Given the description of an element on the screen output the (x, y) to click on. 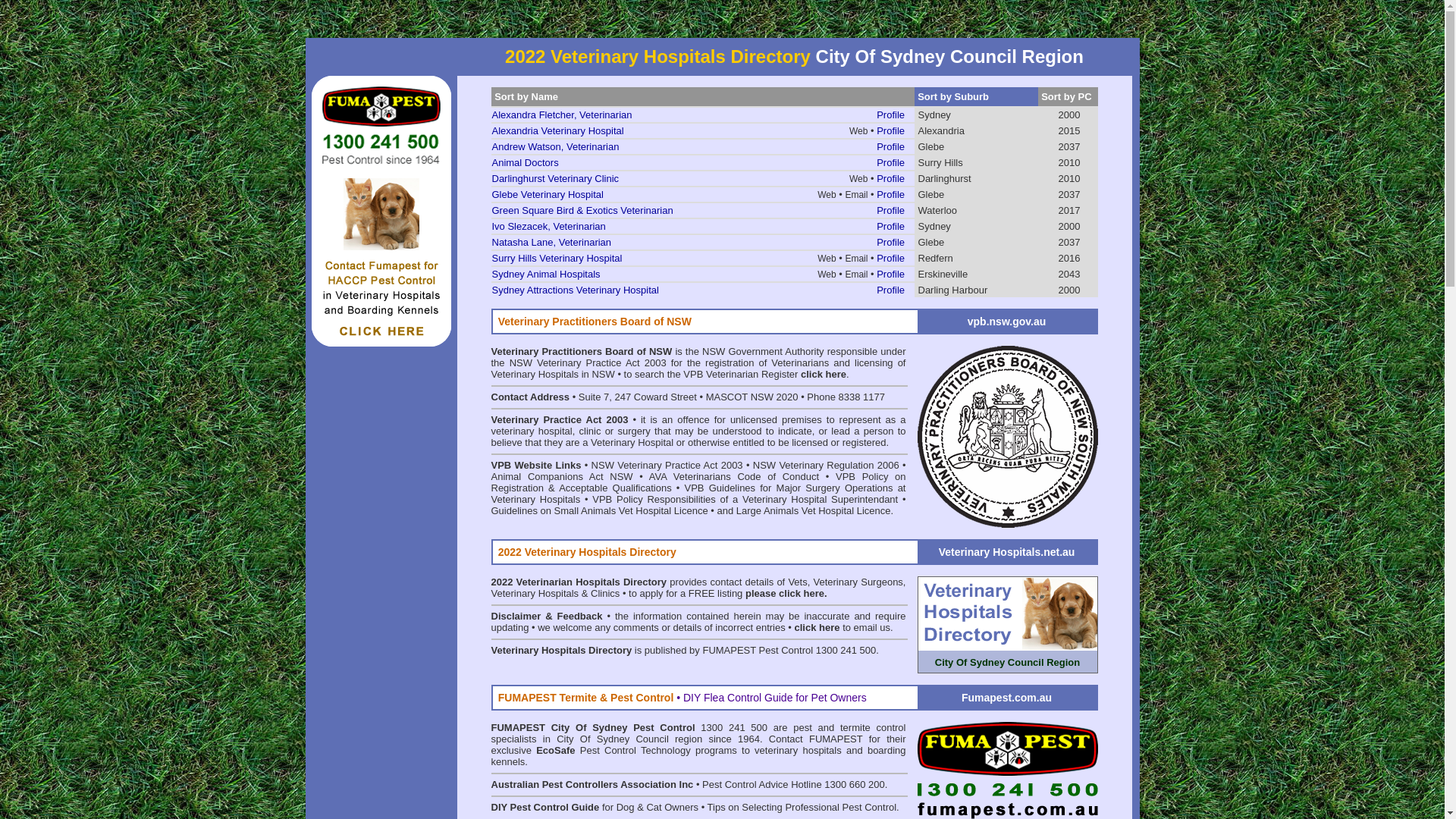
Animal Companions Act Element type: text (547, 476)
Ivo Slezacek, Veterinarian Profile Element type: text (702, 225)
click here to email us Element type: text (842, 627)
Veterinary Hospitals.net.au Element type: text (1006, 552)
Fumapest.com.au Element type: text (1006, 697)
Erskineville Element type: text (942, 273)
Andrew Watson, Veterinarian Profile Element type: text (702, 146)
Surry Hills Element type: text (939, 162)
Veterinary Practice Act 2003 Element type: text (559, 419)
Animal Doctors Profile Element type: text (702, 162)
Sort by PC Element type: text (1066, 96)
NSW Veterinary Regulation 2006 Element type: text (826, 464)
Glebe Element type: text (930, 241)
Sort by Suburb Element type: text (952, 96)
click here Element type: text (823, 373)
Green Square Bird & Exotics Veterinarian Profile Element type: text (702, 209)
please click here. Element type: text (786, 593)
NSW Veterinary Practice Act 2003 Element type: text (667, 464)
Sydney Element type: text (933, 114)
Alexandra Fletcher, Veterinarian Profile Element type: text (702, 114)
pest and termite control Element type: text (849, 727)
Redfern Element type: text (934, 257)
FUMAPEST Pest Control Element type: text (757, 649)
vpb.nsw.gov.au Element type: text (1006, 321)
VPB Policy on Registration & Acceptable Qualifications Element type: text (698, 481)
FUMAPEST Element type: text (518, 727)
Sydney Element type: text (933, 226)
Veterinary Hospitals Directory Element type: text (562, 649)
2022 Veterinarian Hospitals Directory Element type: text (579, 581)
Sort by Name Element type: text (526, 96)
City Of Sydney Council Region Element type: text (1007, 624)
Glebe Element type: text (930, 194)
Waterloo Element type: text (937, 210)
Sydney Attractions Veterinary Hospital Profile Element type: text (702, 289)
Darlinghurst Element type: text (943, 178)
Australian Pest Controllers Association Inc Element type: text (592, 784)
Large Animals Vet Hospital Licence Element type: text (813, 510)
City Of Sydney Pest Control Element type: text (623, 727)
Natasha Lane, Veterinarian Profile Element type: text (702, 241)
Glebe Element type: text (930, 146)
Veterinary Practitioners Board of NSW Element type: text (581, 351)
Guidelines on Small Animals Vet Hospital Licence Element type: text (599, 510)
Darling Harbour Element type: text (952, 289)
Alexandria Element type: text (940, 130)
